Given the description of an element on the screen output the (x, y) to click on. 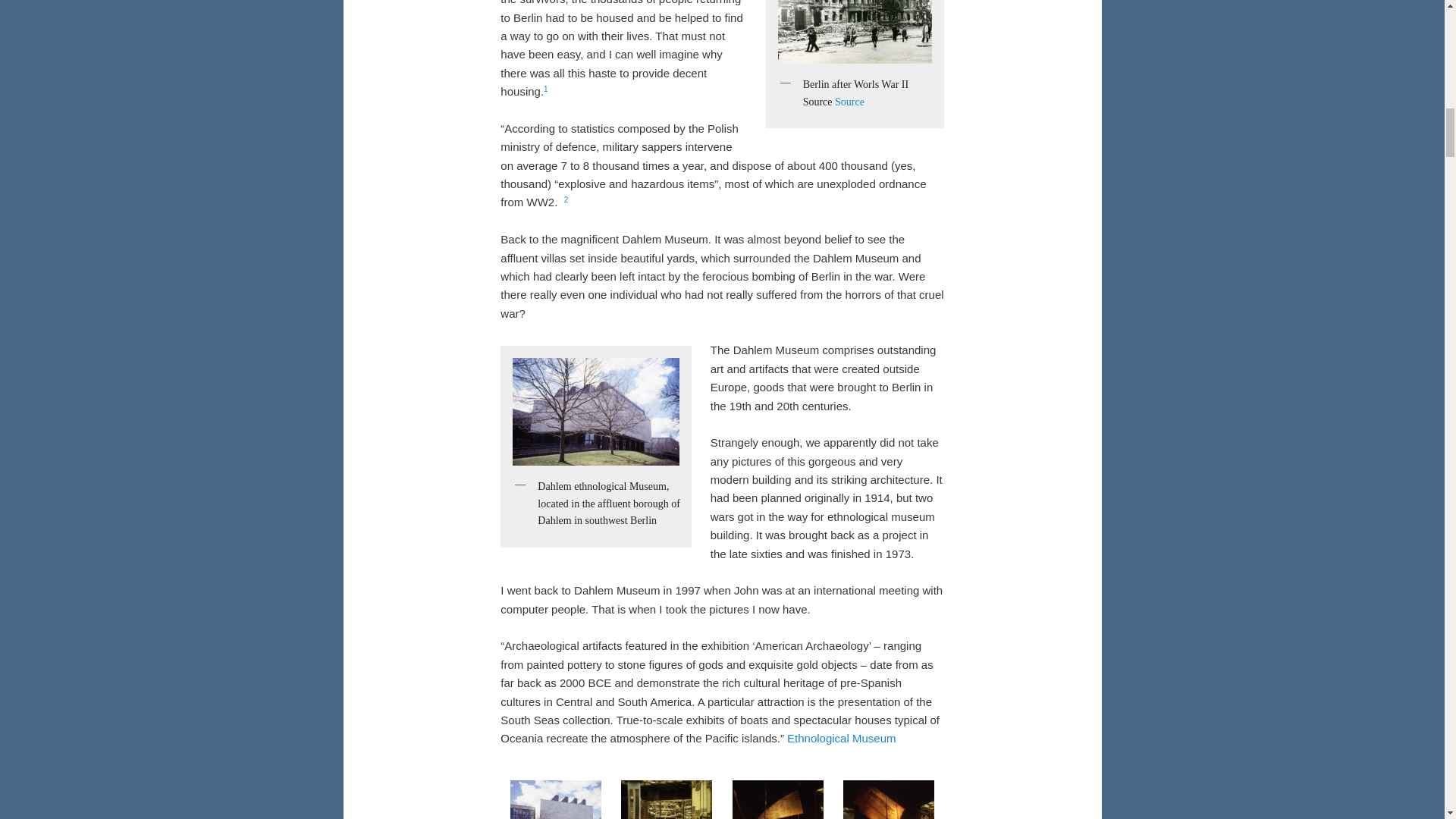
1 (545, 89)
Source (849, 101)
